Given the description of an element on the screen output the (x, y) to click on. 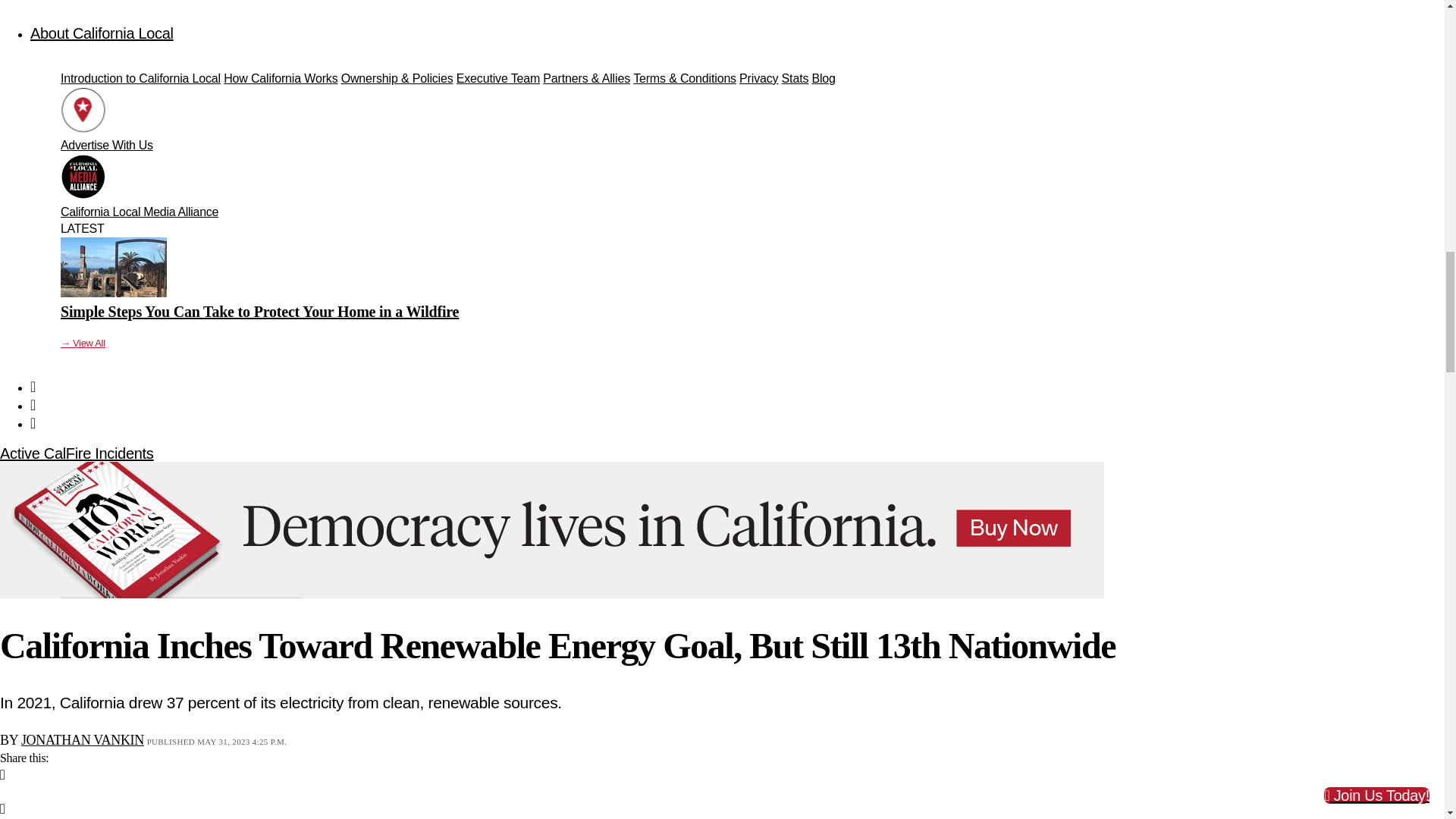
All about California Local. (101, 33)
Click for more information. (76, 453)
